Given the description of an element on the screen output the (x, y) to click on. 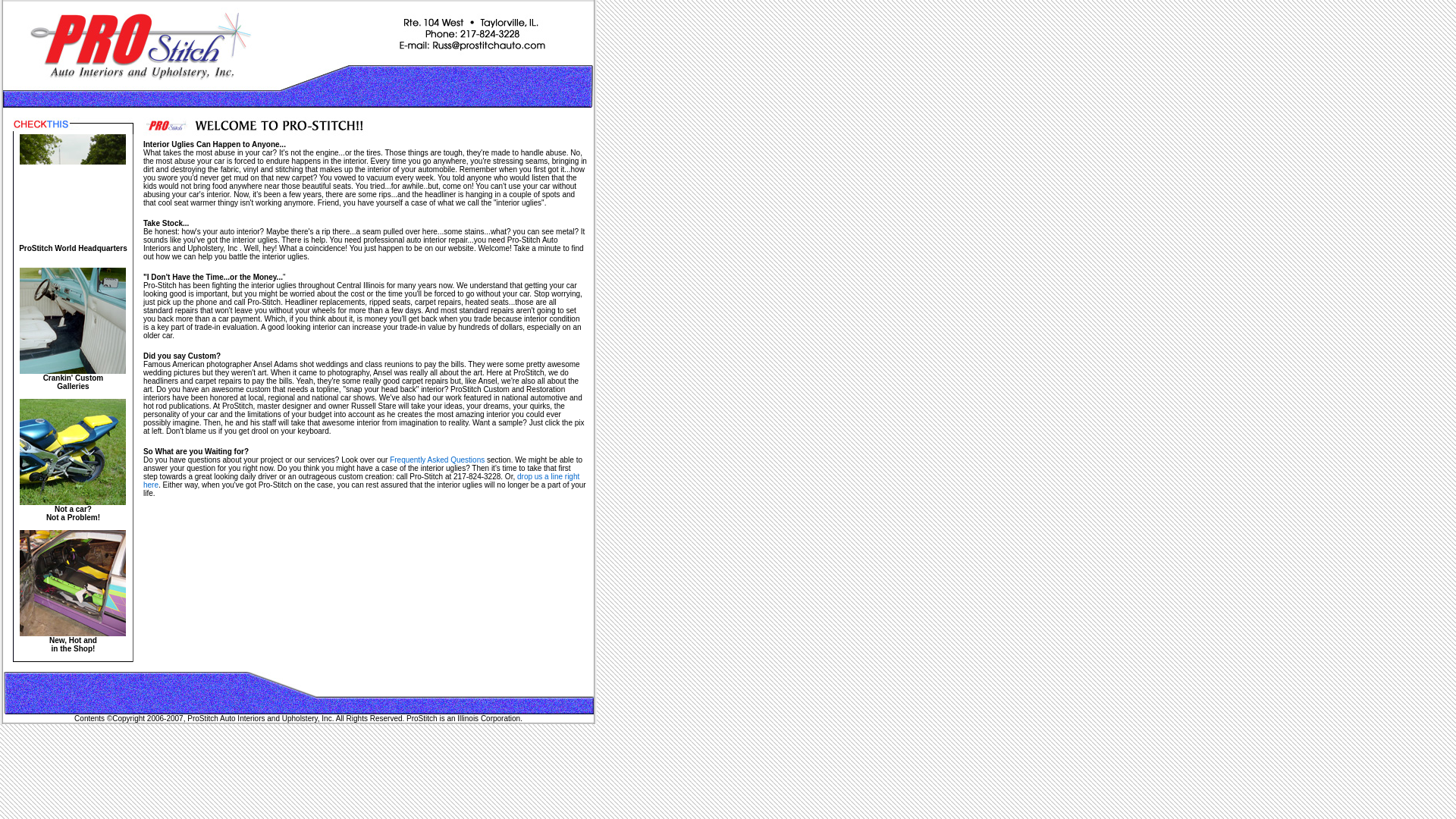
drop us a line right here (72, 639)
ProStitch-Frequently Asked Questions (360, 480)
ProStitch World Headquarters (72, 512)
Frequently Asked Questions (437, 459)
